Given the description of an element on the screen output the (x, y) to click on. 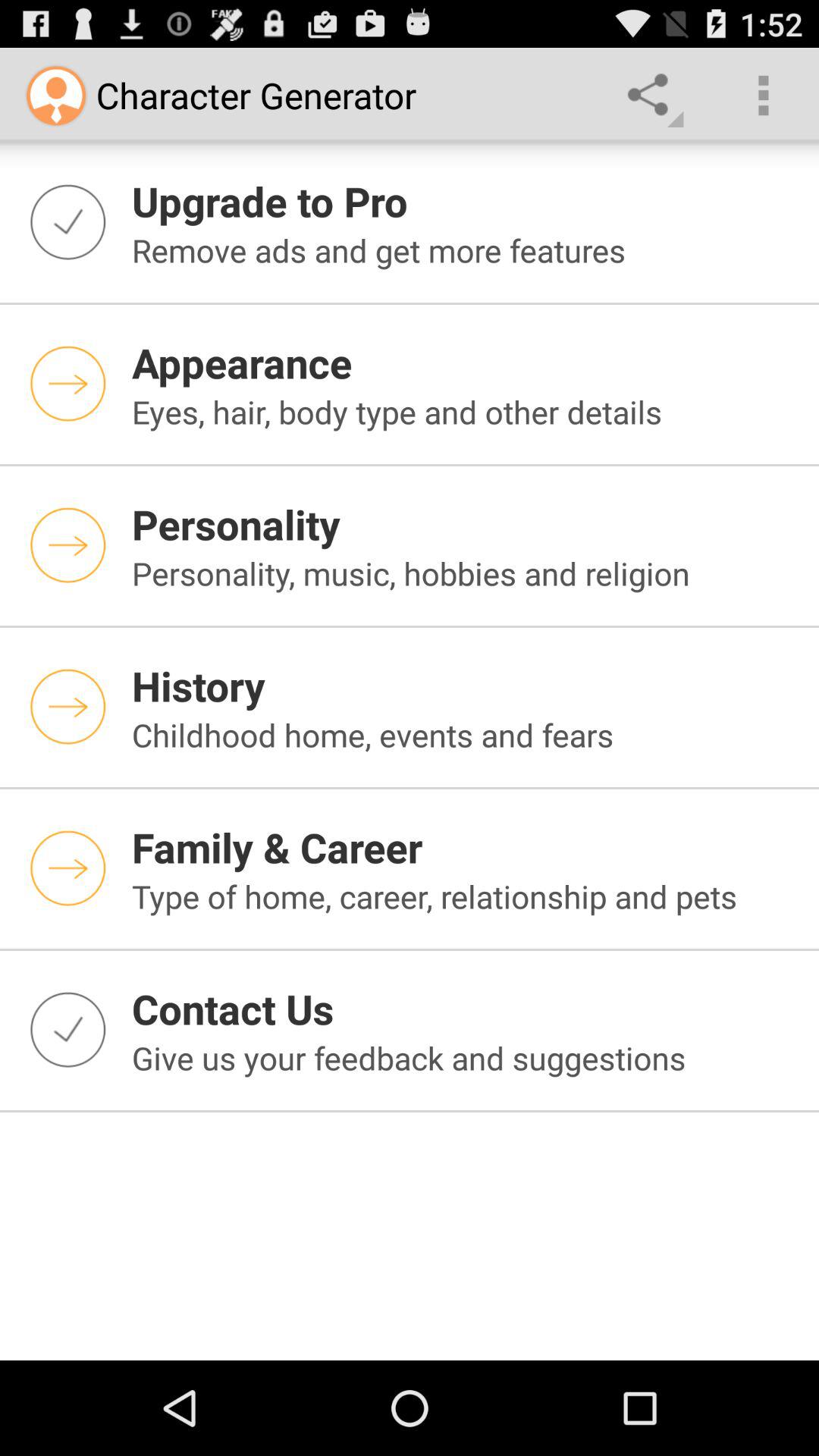
launch app below upgrade to pro (465, 249)
